Given the description of an element on the screen output the (x, y) to click on. 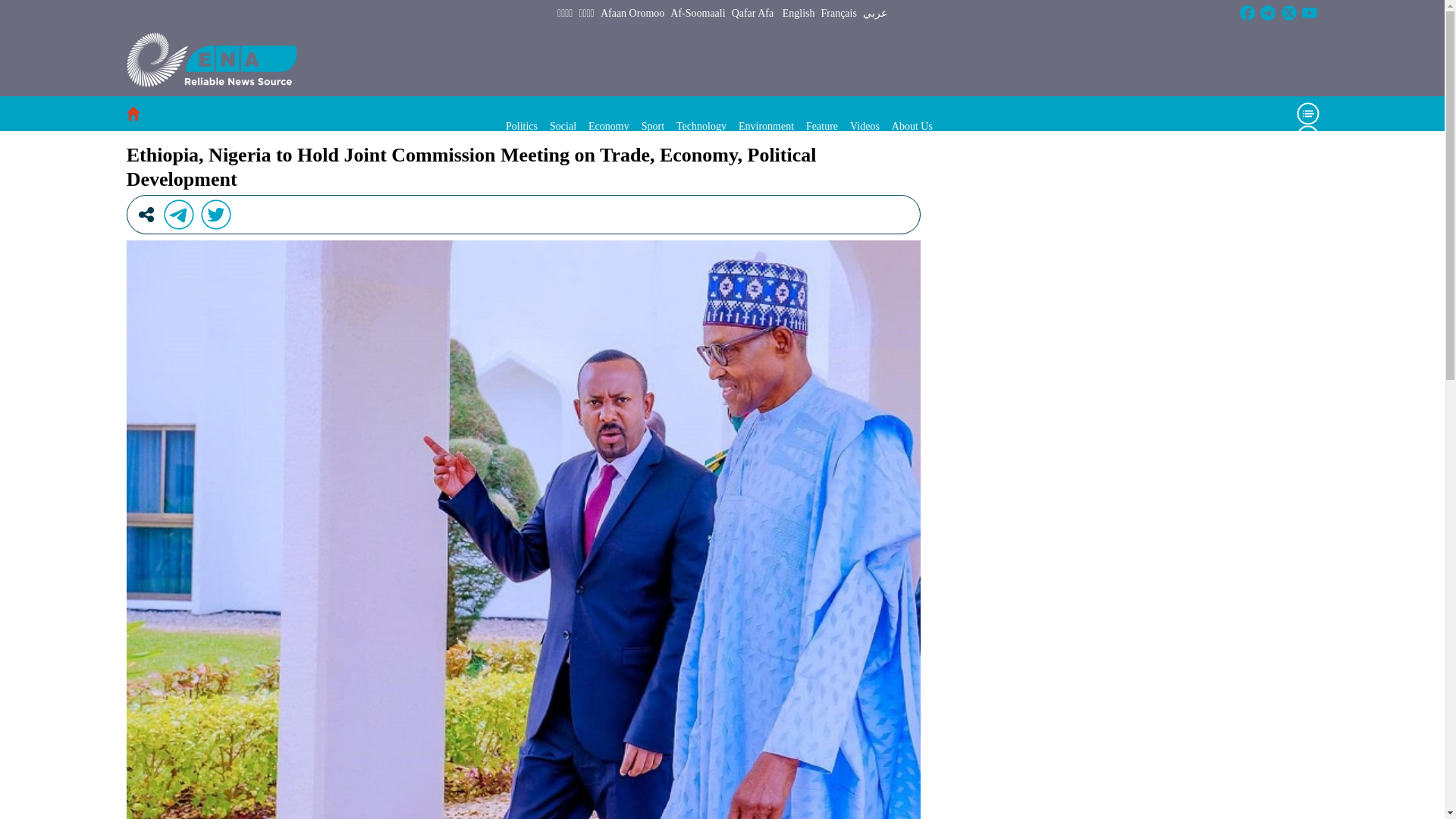
Feature (821, 125)
Environment (765, 125)
Politics (521, 125)
Skip to Content (5, 5)
English (798, 13)
Videos (864, 125)
Social (562, 125)
Afaan Oromoo (631, 13)
About Us (912, 125)
Economy (608, 125)
Qafar Afa (753, 13)
Sport (651, 125)
Technology (700, 125)
